Given the description of an element on the screen output the (x, y) to click on. 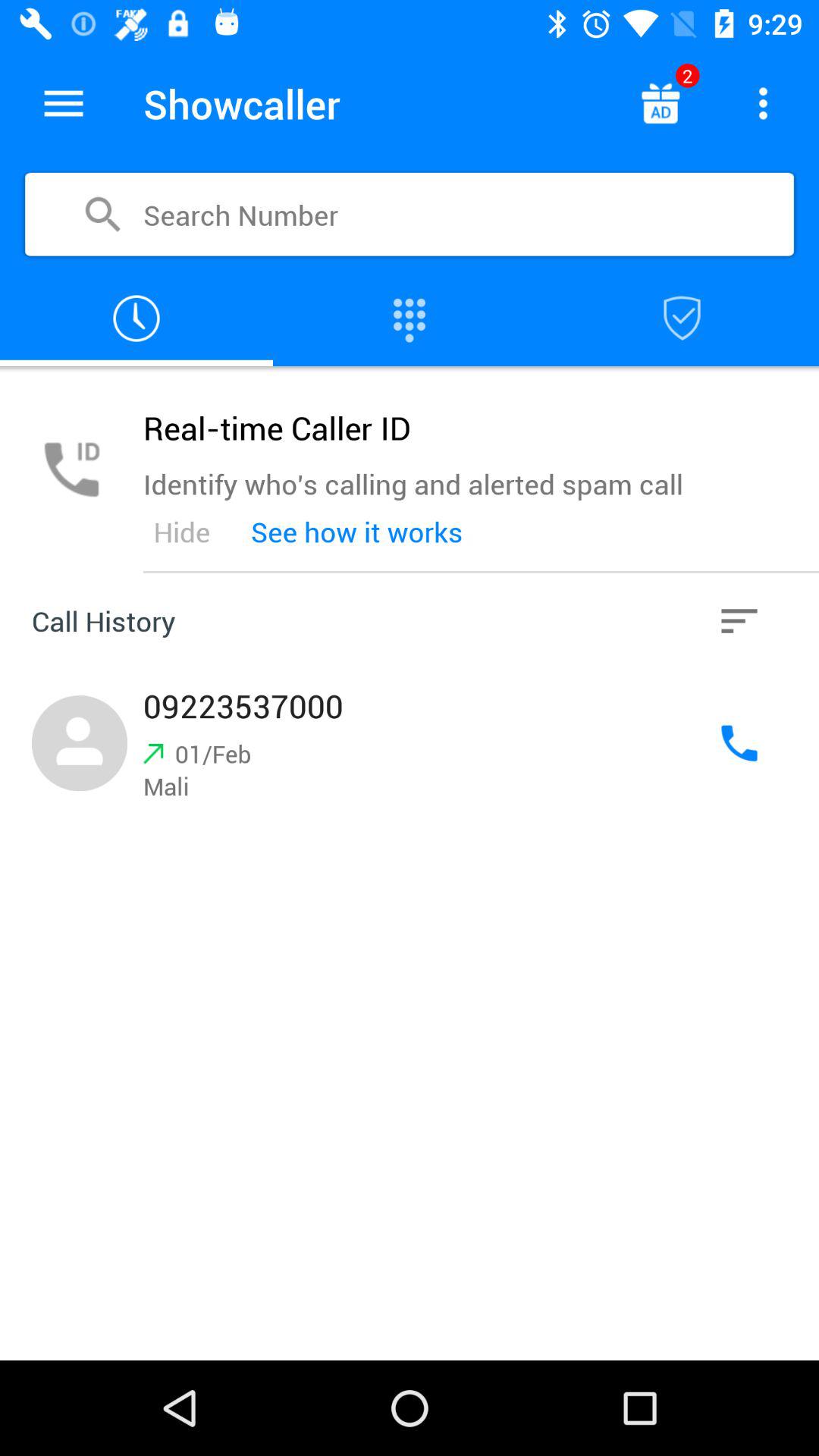
caller time (136, 318)
